Given the description of an element on the screen output the (x, y) to click on. 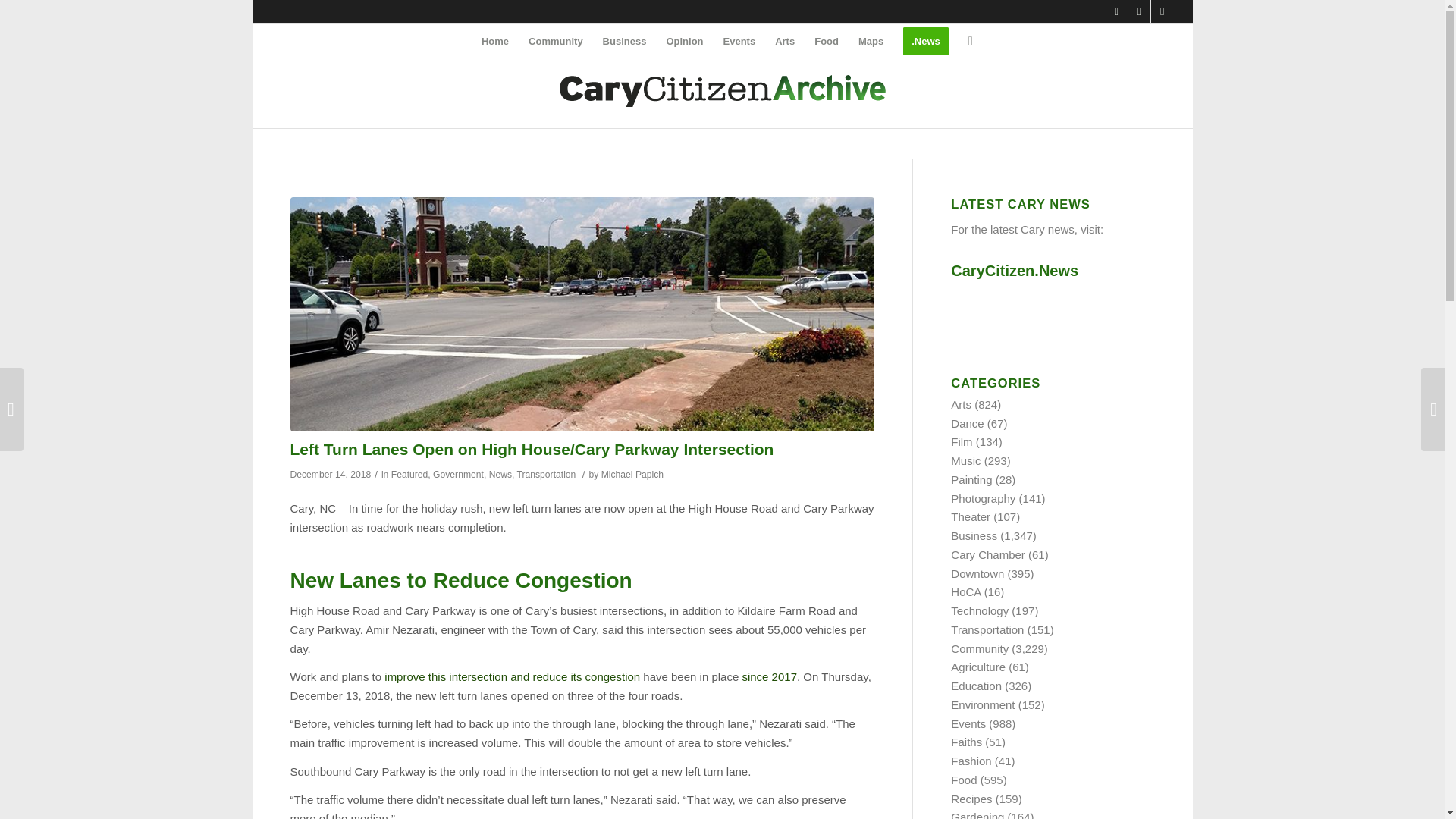
News (500, 474)
Events (739, 41)
Government (457, 474)
Maps (870, 41)
Michael Papich (632, 474)
Posts by Michael Papich (632, 474)
Community (555, 41)
Business (624, 41)
Home (494, 41)
